Given the description of an element on the screen output the (x, y) to click on. 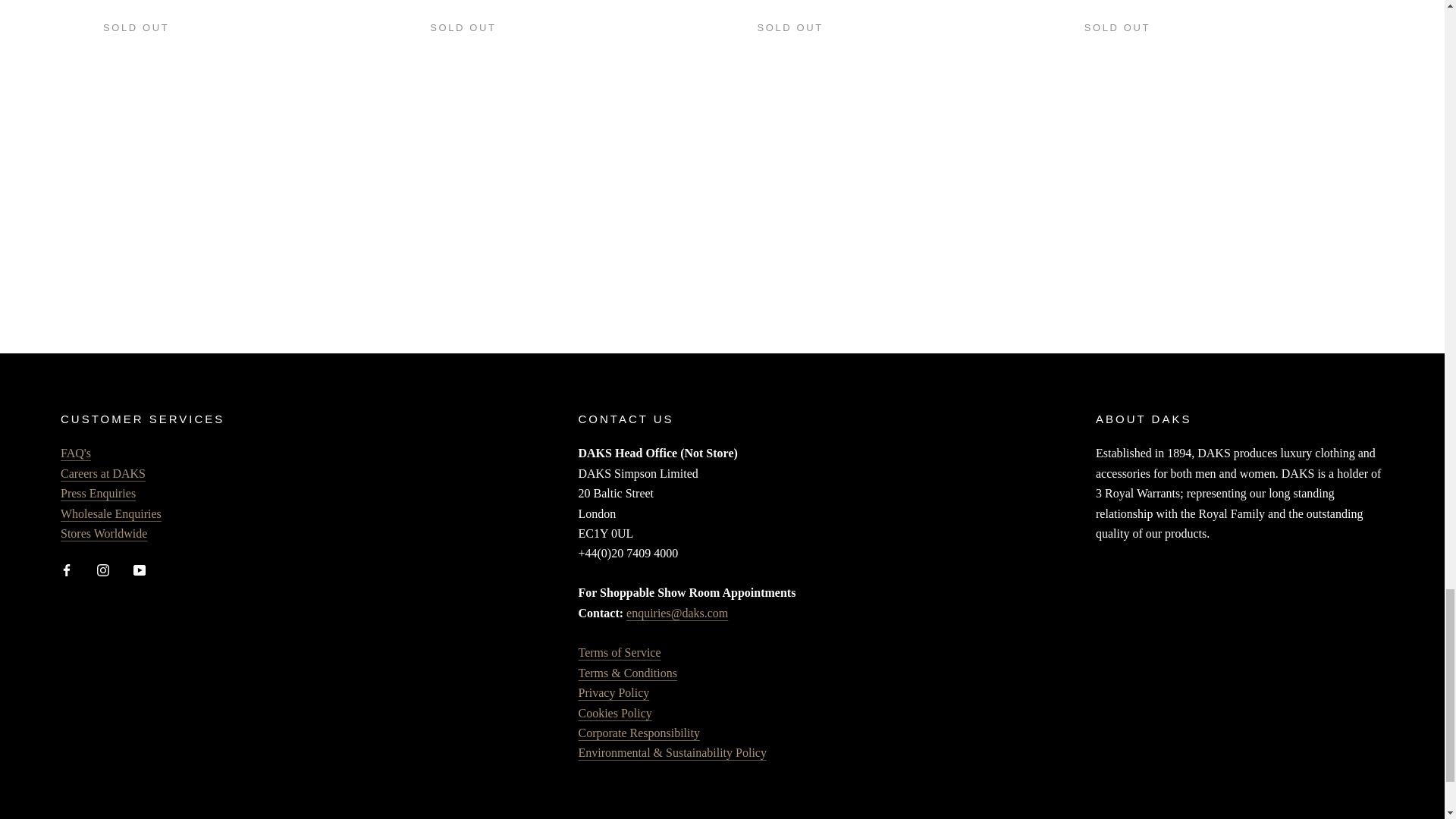
Press Enquiries (98, 492)
Stores - Worldwide (104, 533)
Cookies Policy (614, 712)
Careers at DAKS (103, 482)
Terms Of Service (619, 652)
Corporate Responsibility (638, 732)
Privacy Policy (613, 692)
Wholesale Enquiries (111, 512)
FAQ's (75, 452)
